Given the description of an element on the screen output the (x, y) to click on. 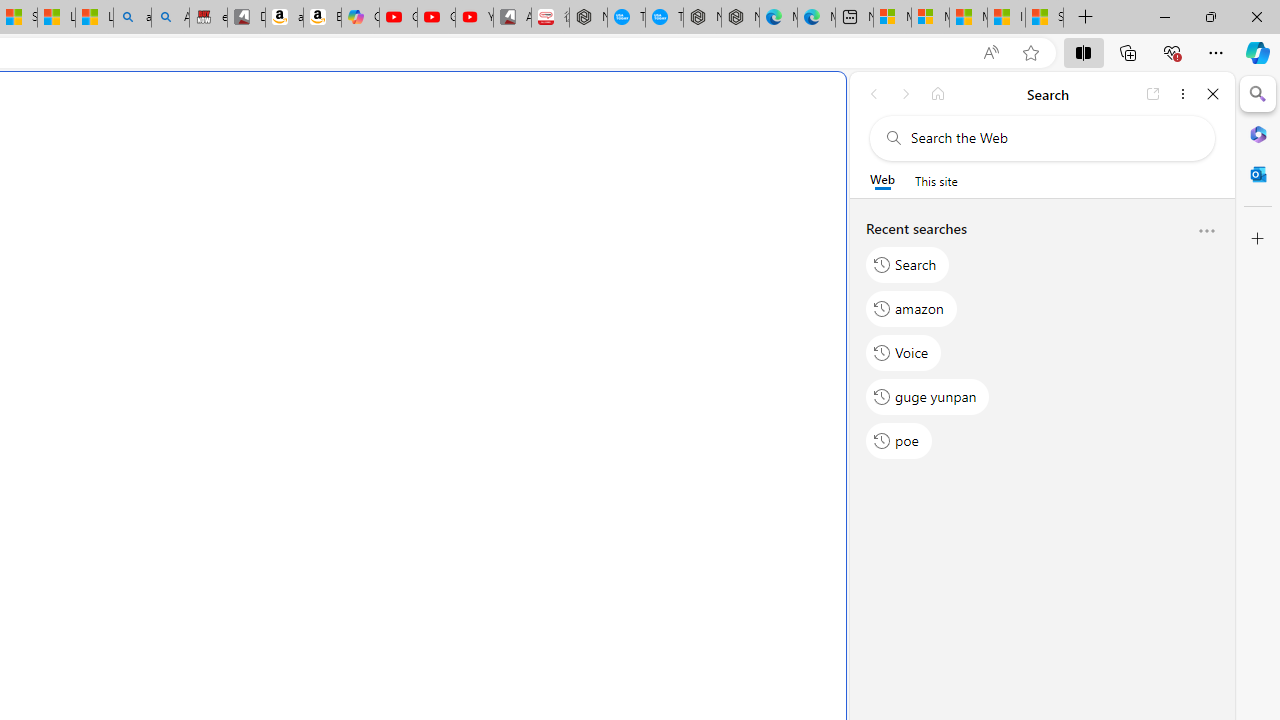
The most popular Google 'how to' searches (664, 17)
Web scope (882, 180)
